Given the description of an element on the screen output the (x, y) to click on. 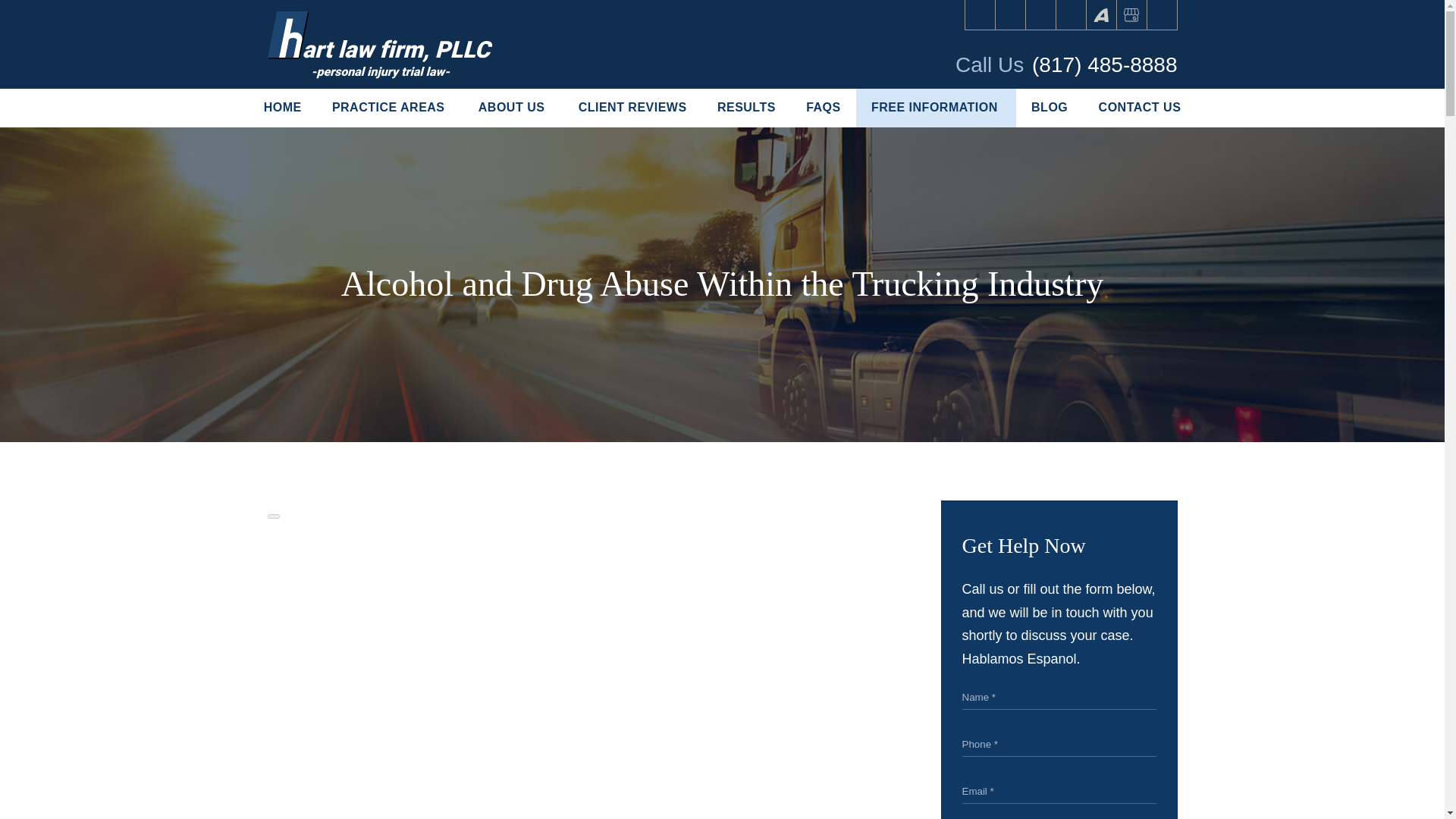
Search (1161, 15)
RESULTS (745, 107)
PRACTICE AREAS (390, 107)
FREE INFORMATION (936, 107)
BLOG (1049, 107)
CLIENT REVIEWS (631, 107)
ABOUT US (513, 107)
FAQS (823, 107)
HOME (282, 107)
